Given the description of an element on the screen output the (x, y) to click on. 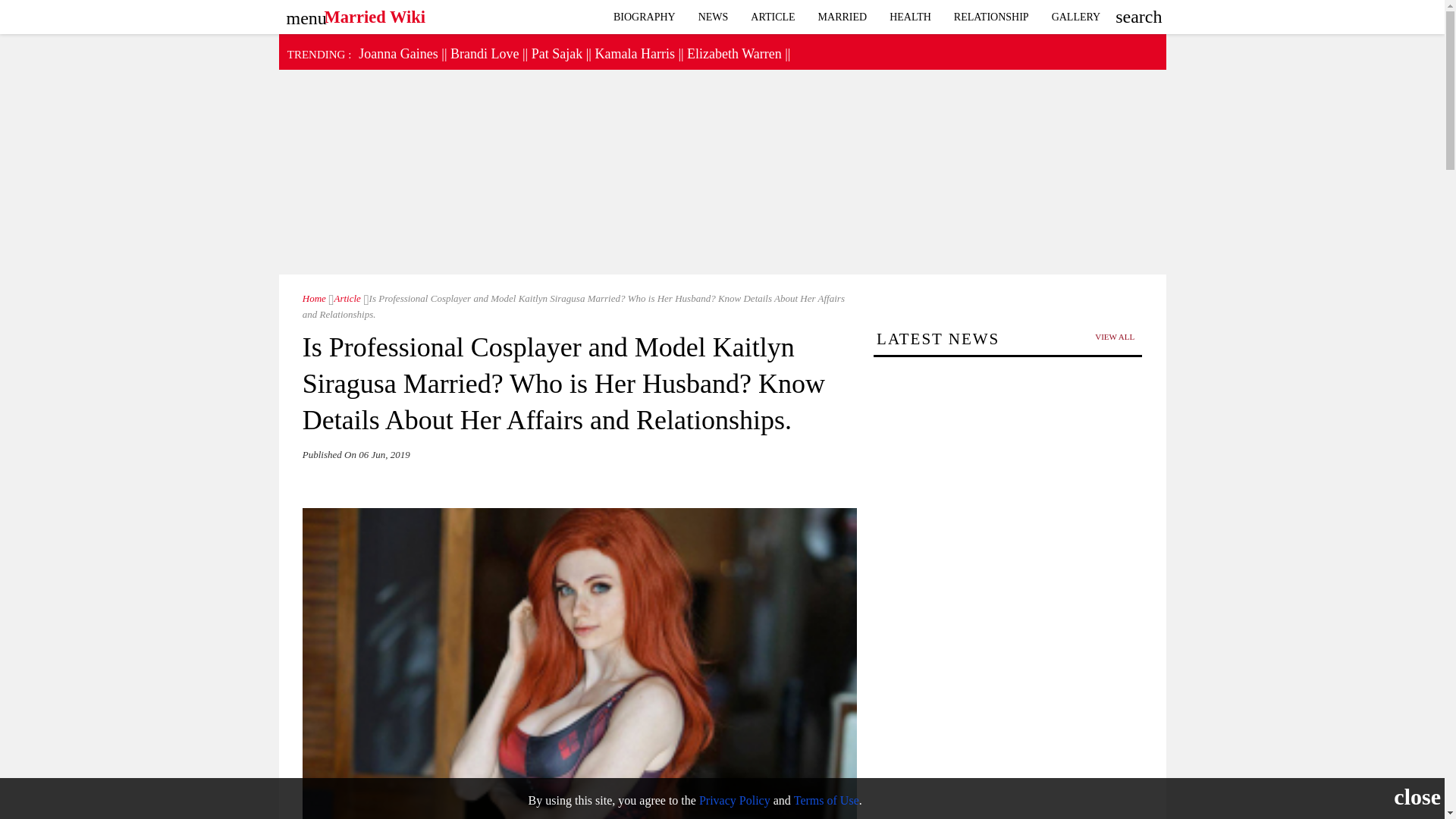
married (842, 17)
Brandi Love (483, 53)
Article (772, 17)
Terms of Use (826, 799)
ARTICLE (772, 17)
Married Wiki (375, 13)
Relationship (991, 17)
Article (345, 297)
Joanna Gaines (398, 53)
MARRIED (842, 17)
